Given the description of an element on the screen output the (x, y) to click on. 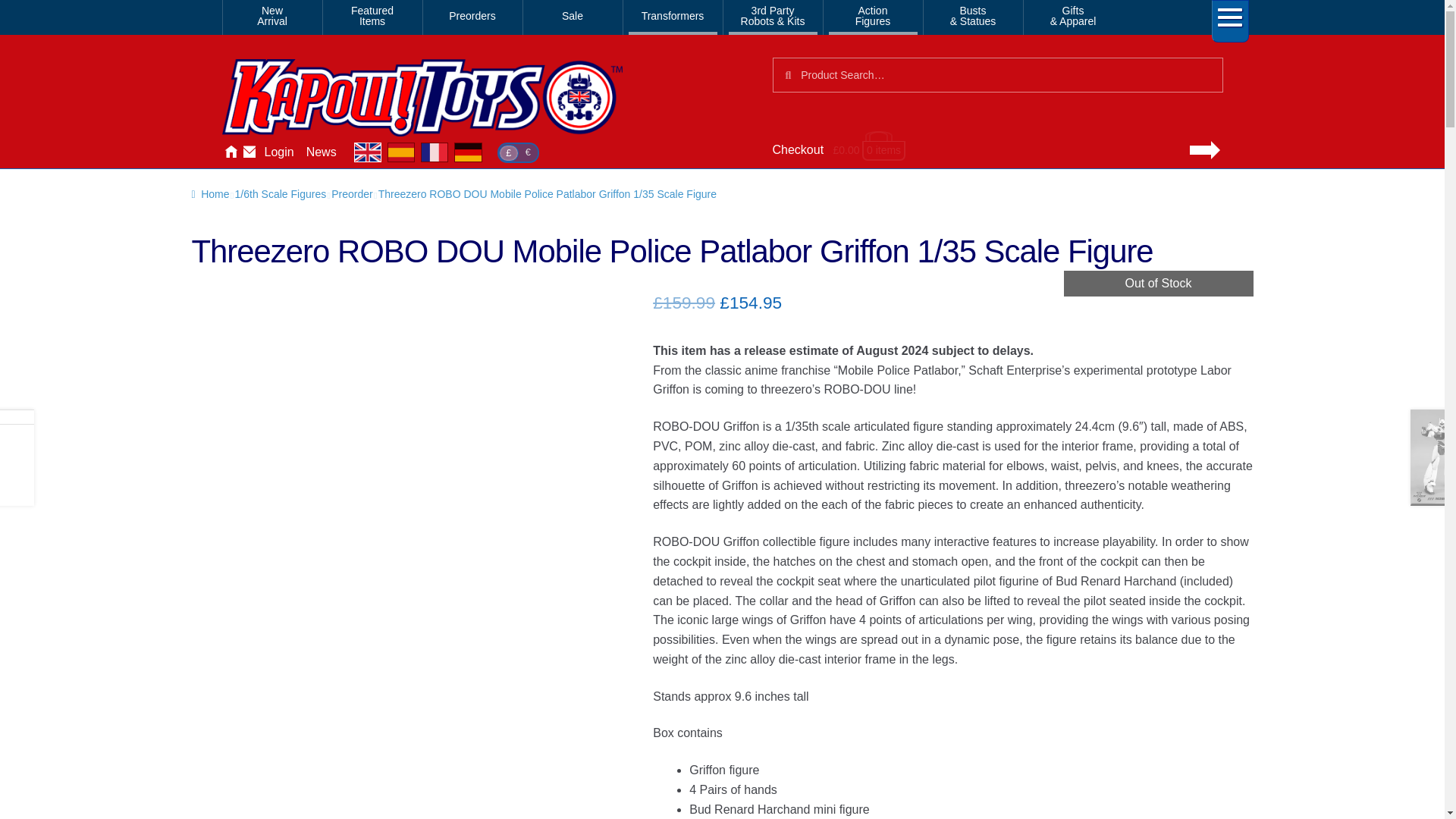
Sale (571, 17)
Transformers (671, 17)
Account (278, 152)
View your shopping basket (997, 150)
Preorders (472, 17)
Login (278, 152)
Home (209, 193)
Preorder (351, 193)
